Given the description of an element on the screen output the (x, y) to click on. 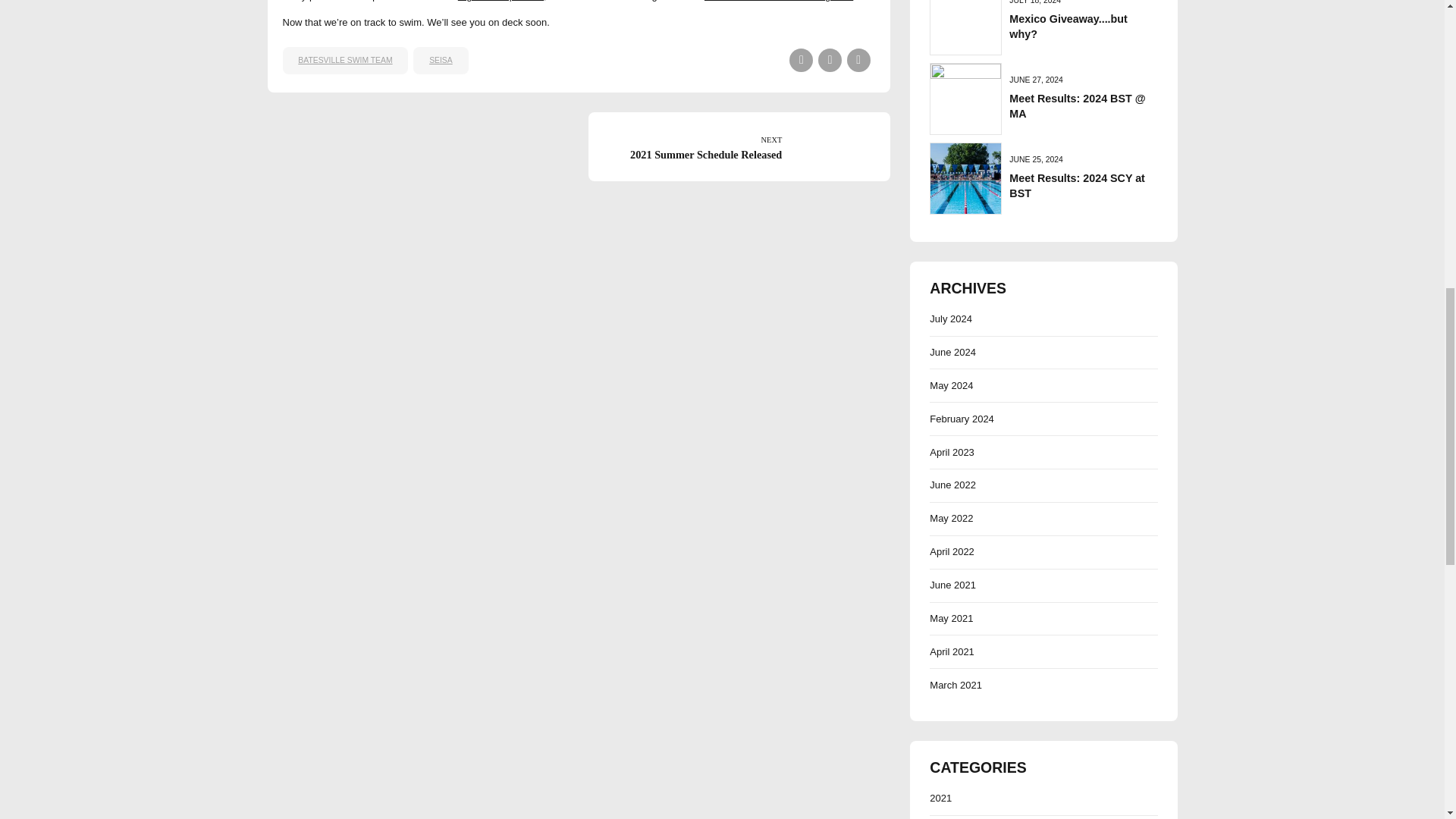
Share on Facebook (738, 146)
Board Members or Coaching Staff (800, 60)
Share on Twitter (1076, 185)
SEISA (829, 60)
BATESVILLE SWIM TEAM (440, 60)
Meet Results: 2024 SCY at BST (344, 60)
registration process (1076, 185)
Share on Linkedin (500, 0)
